Given the description of an element on the screen output the (x, y) to click on. 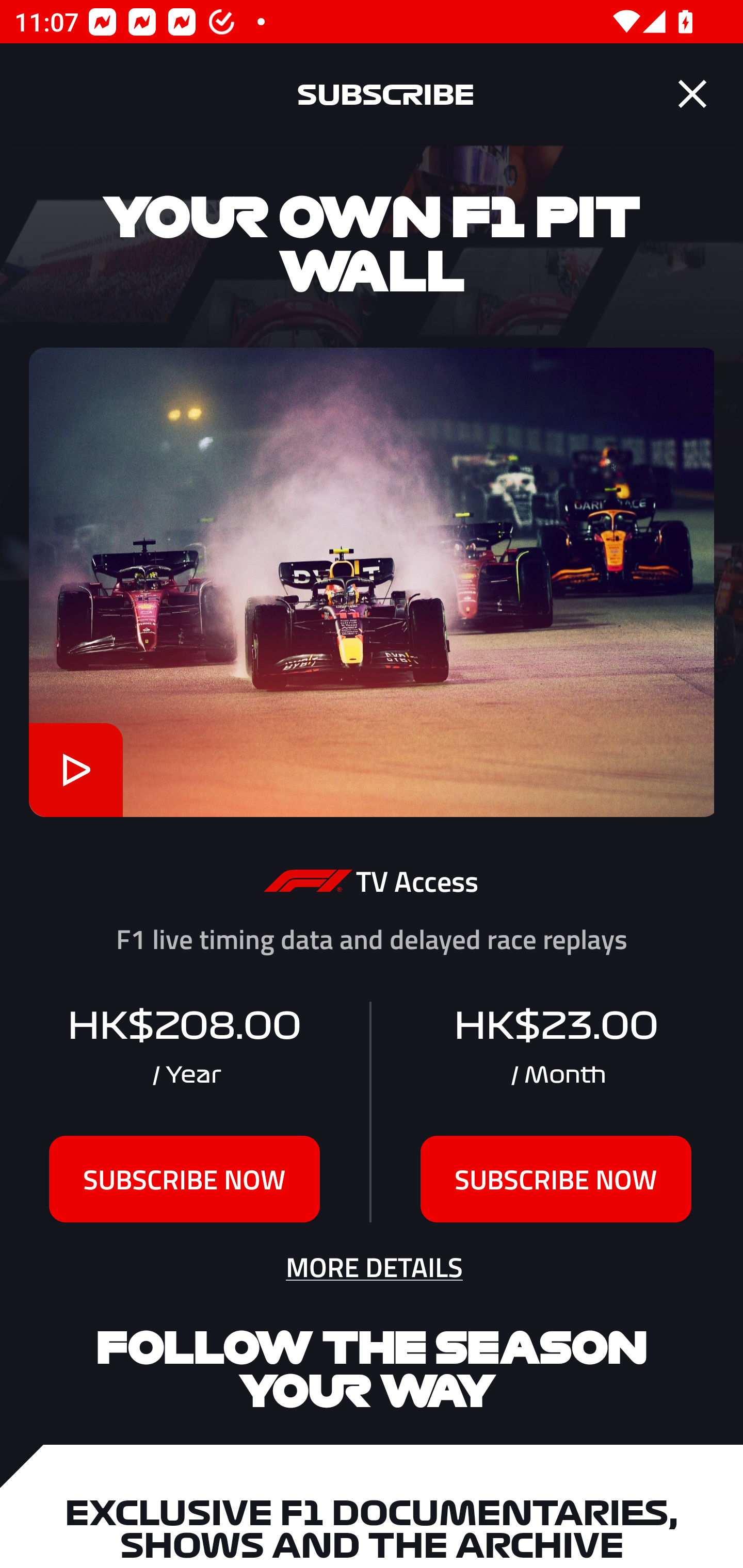
Close (692, 93)
Video Component, tap to play Video (75, 769)
SUBSCRIBE NOW (184, 1179)
SUBSCRIBE NOW (555, 1179)
